Given the description of an element on the screen output the (x, y) to click on. 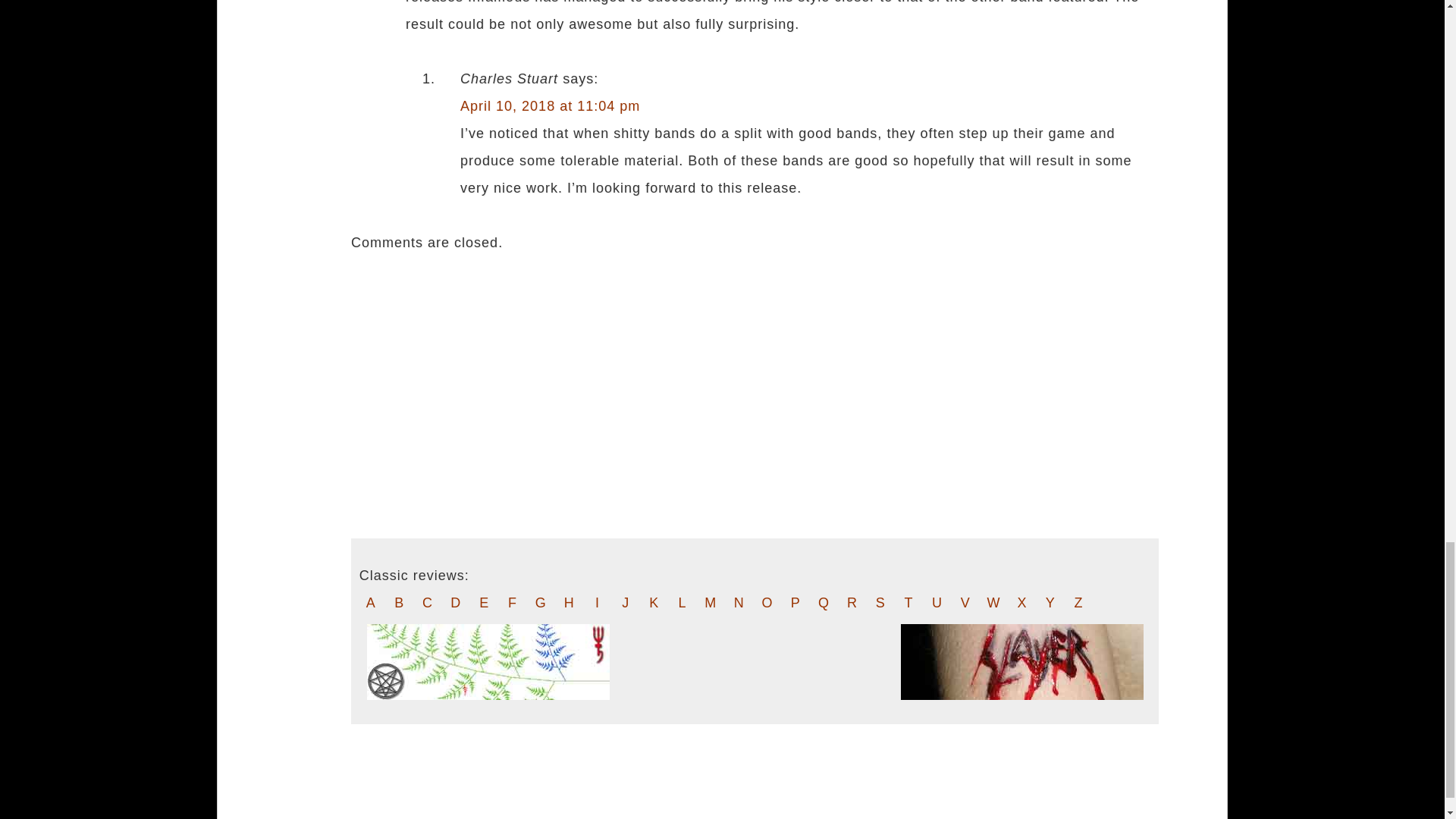
April 10, 2018 at 11:04 pm (550, 105)
